Given the description of an element on the screen output the (x, y) to click on. 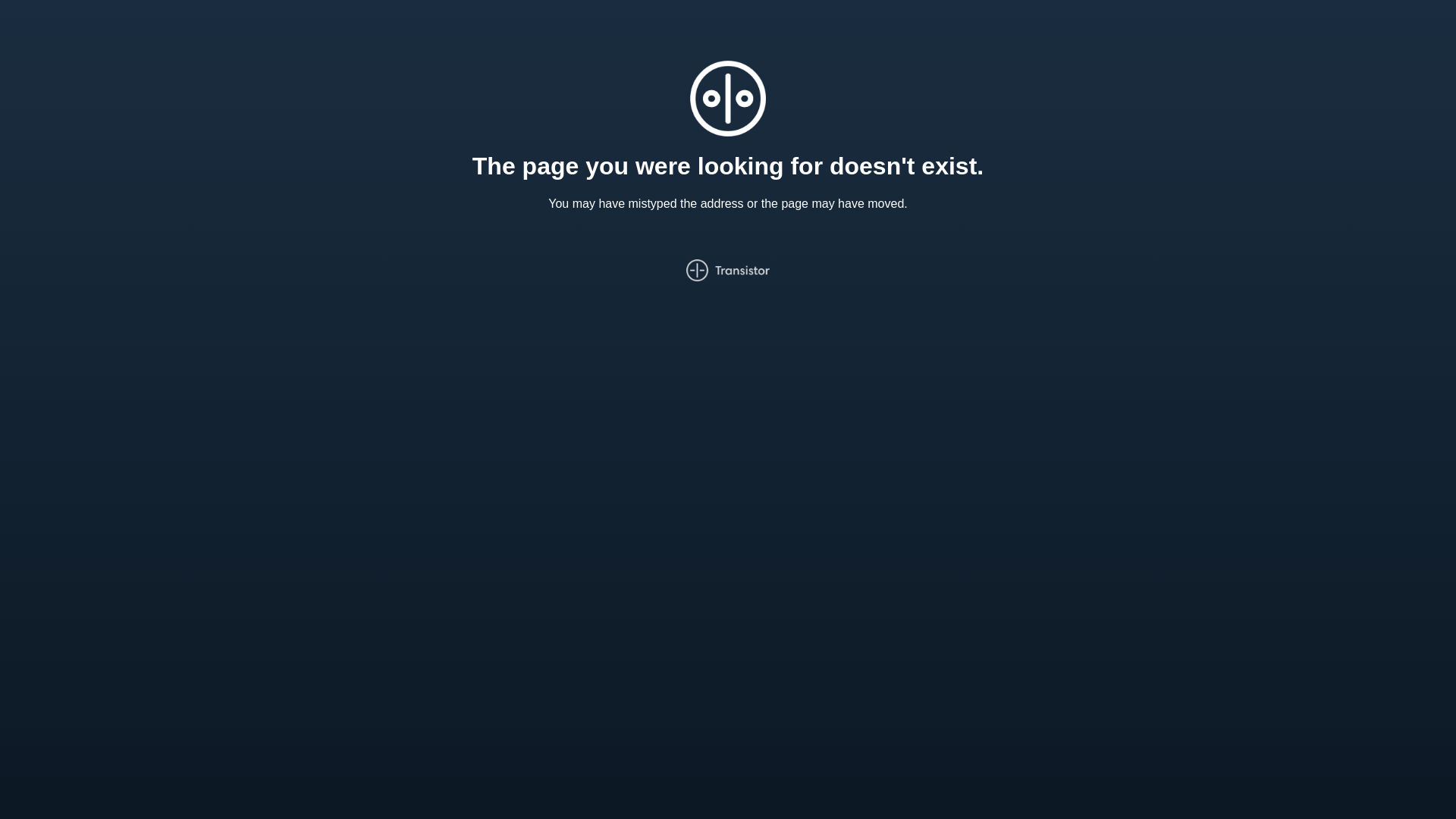
Visit Transistor.fm (727, 270)
